Given the description of an element on the screen output the (x, y) to click on. 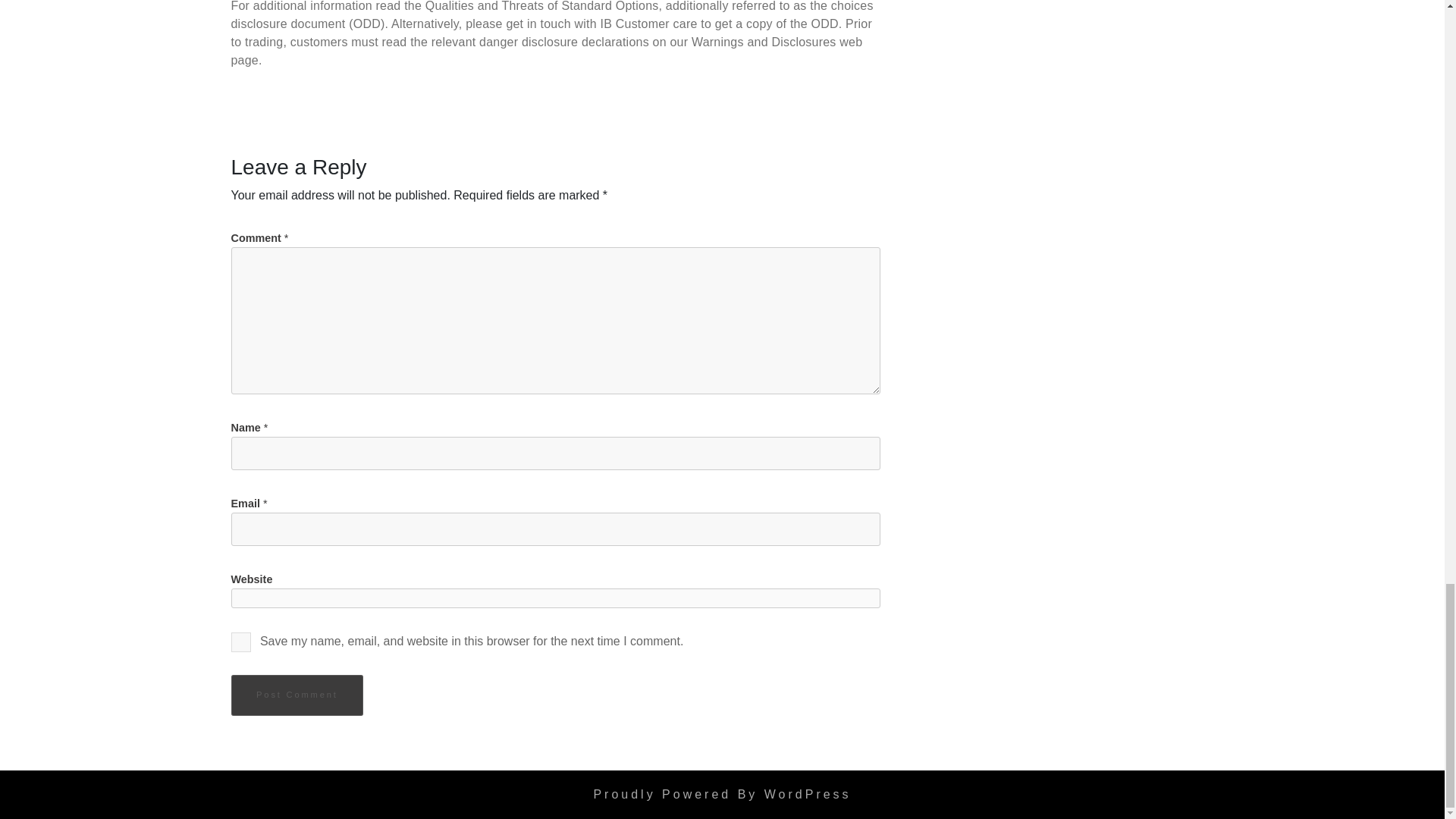
Post Comment (296, 694)
Post Comment (296, 694)
